Given the description of an element on the screen output the (x, y) to click on. 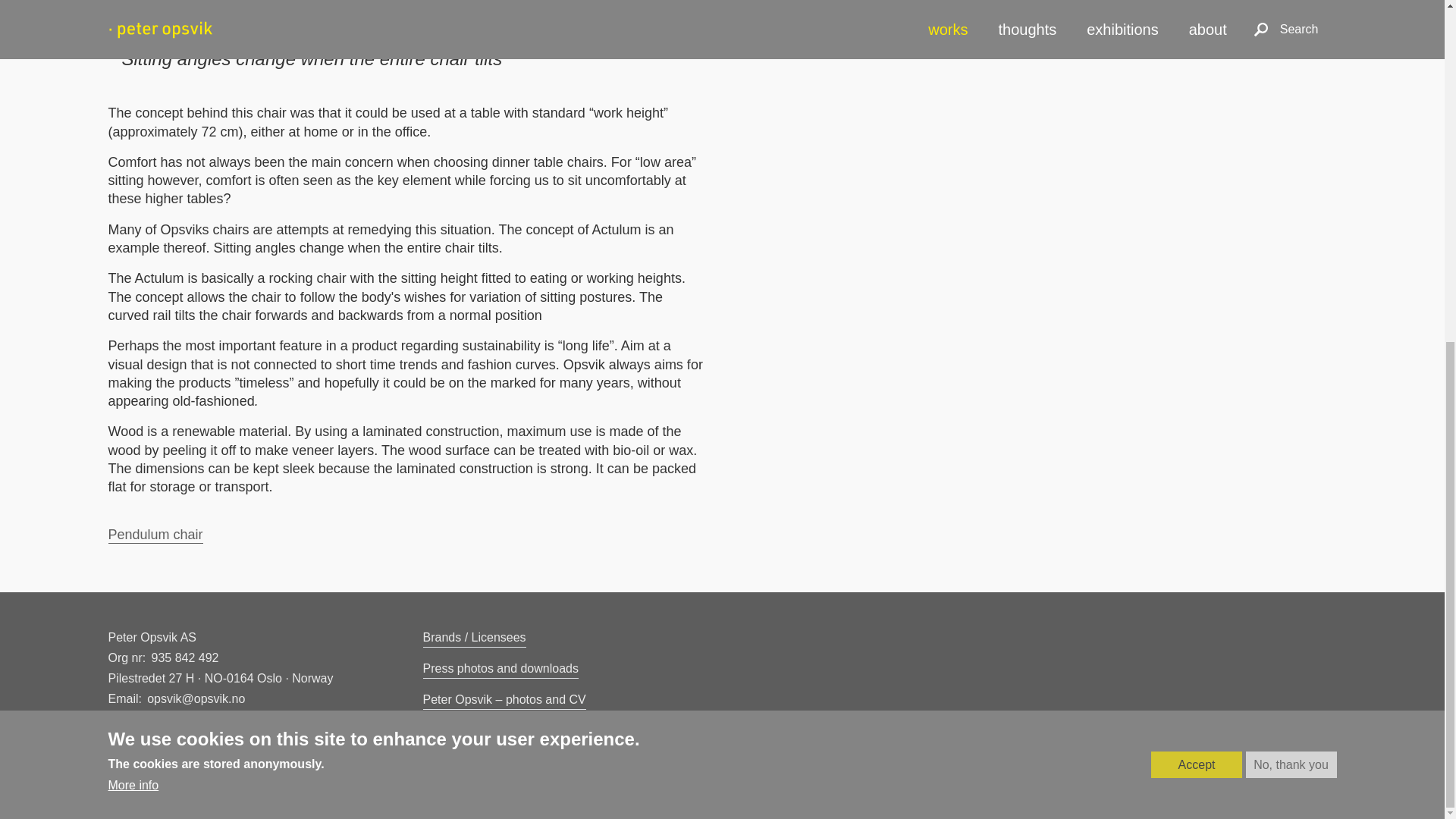
Graf (1208, 773)
Pendulum chair (154, 535)
Opsvik instagram account (249, 731)
Accept (1196, 182)
Ramsalt Lab (1300, 773)
Press photos and downloads (500, 669)
More info (132, 203)
No, thank you (1290, 182)
